Given the description of an element on the screen output the (x, y) to click on. 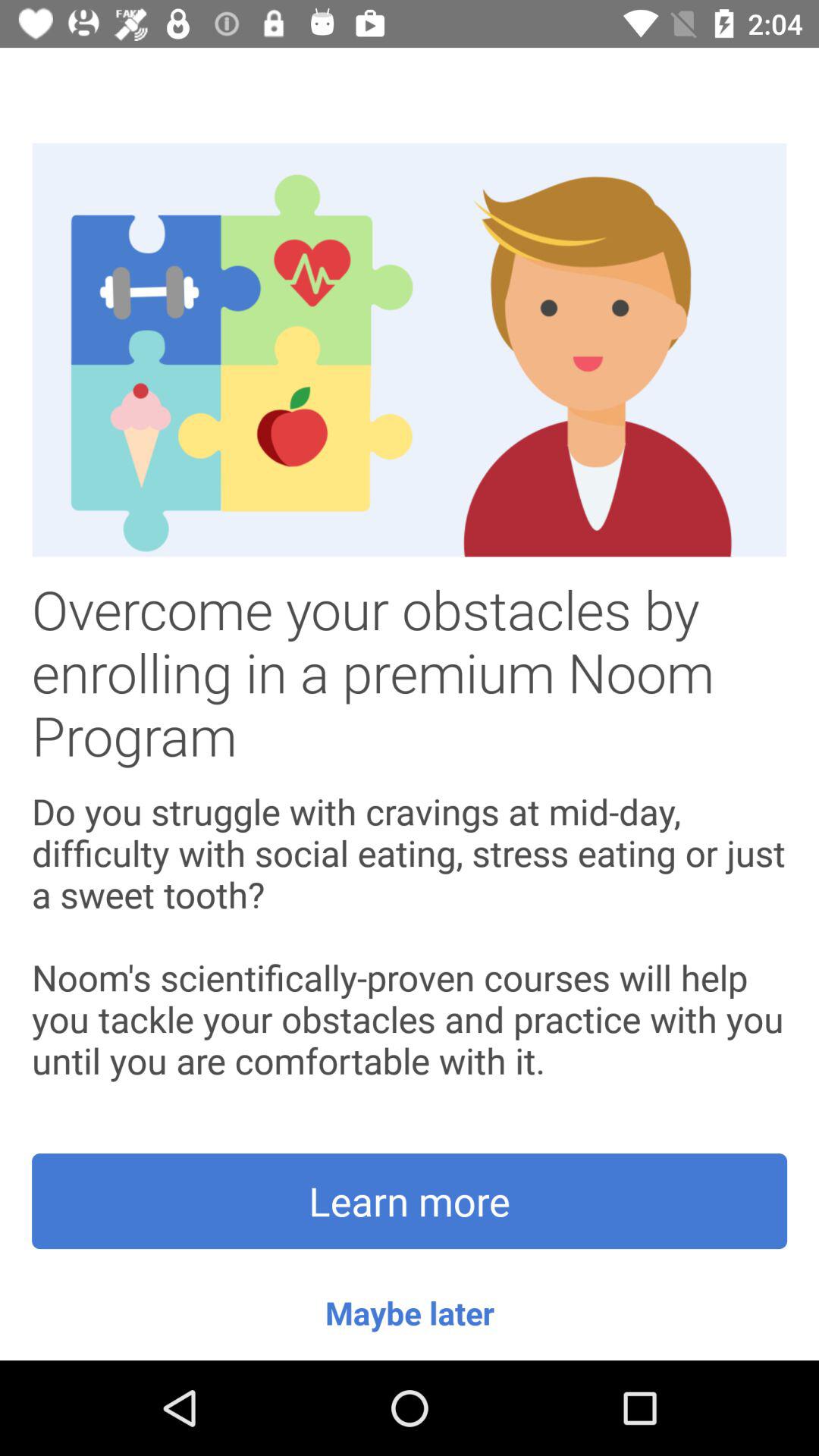
turn off learn more (409, 1200)
